Given the description of an element on the screen output the (x, y) to click on. 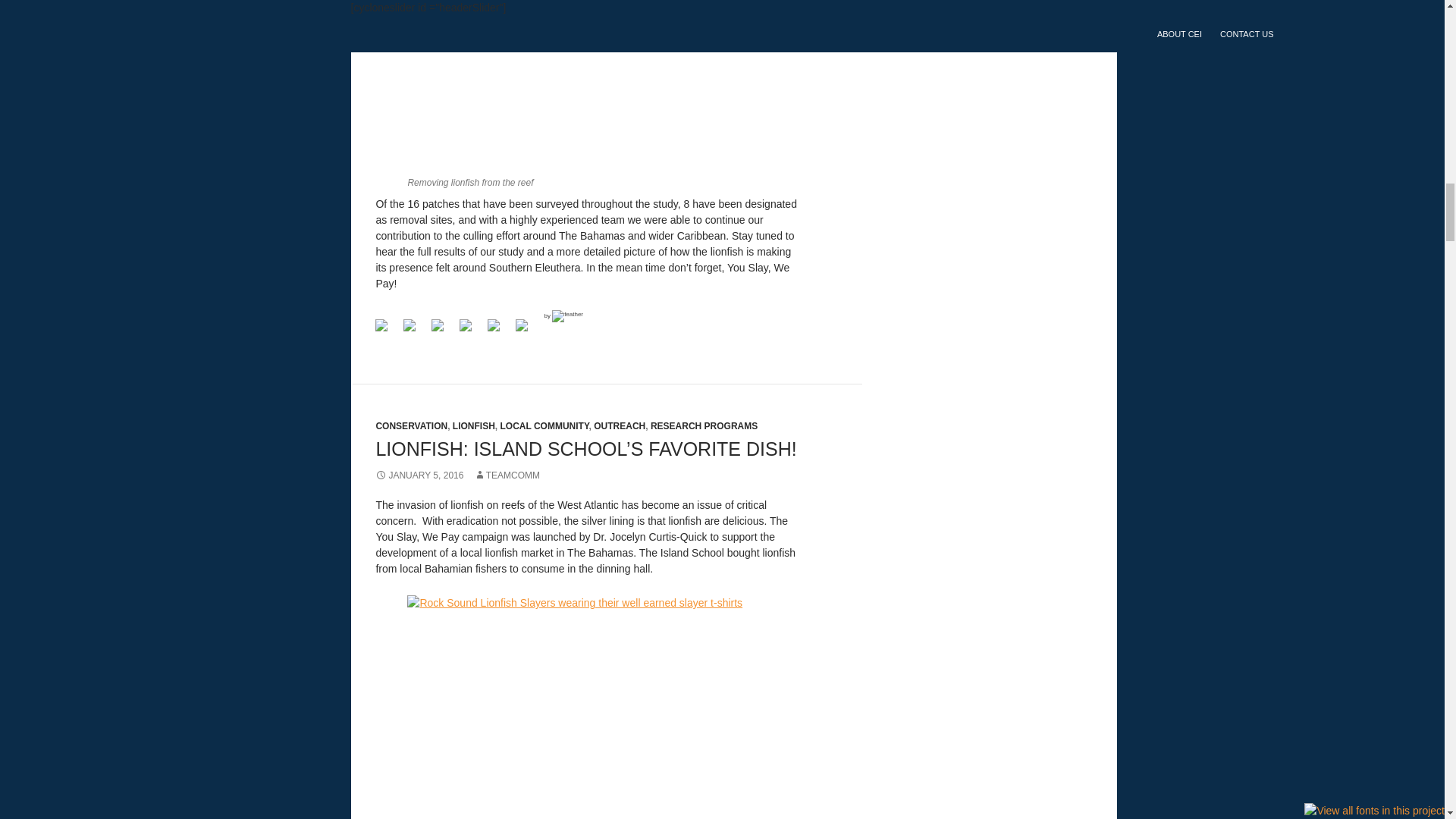
by (563, 315)
CONSERVATION (410, 425)
LIONFISH (473, 425)
